Given the description of an element on the screen output the (x, y) to click on. 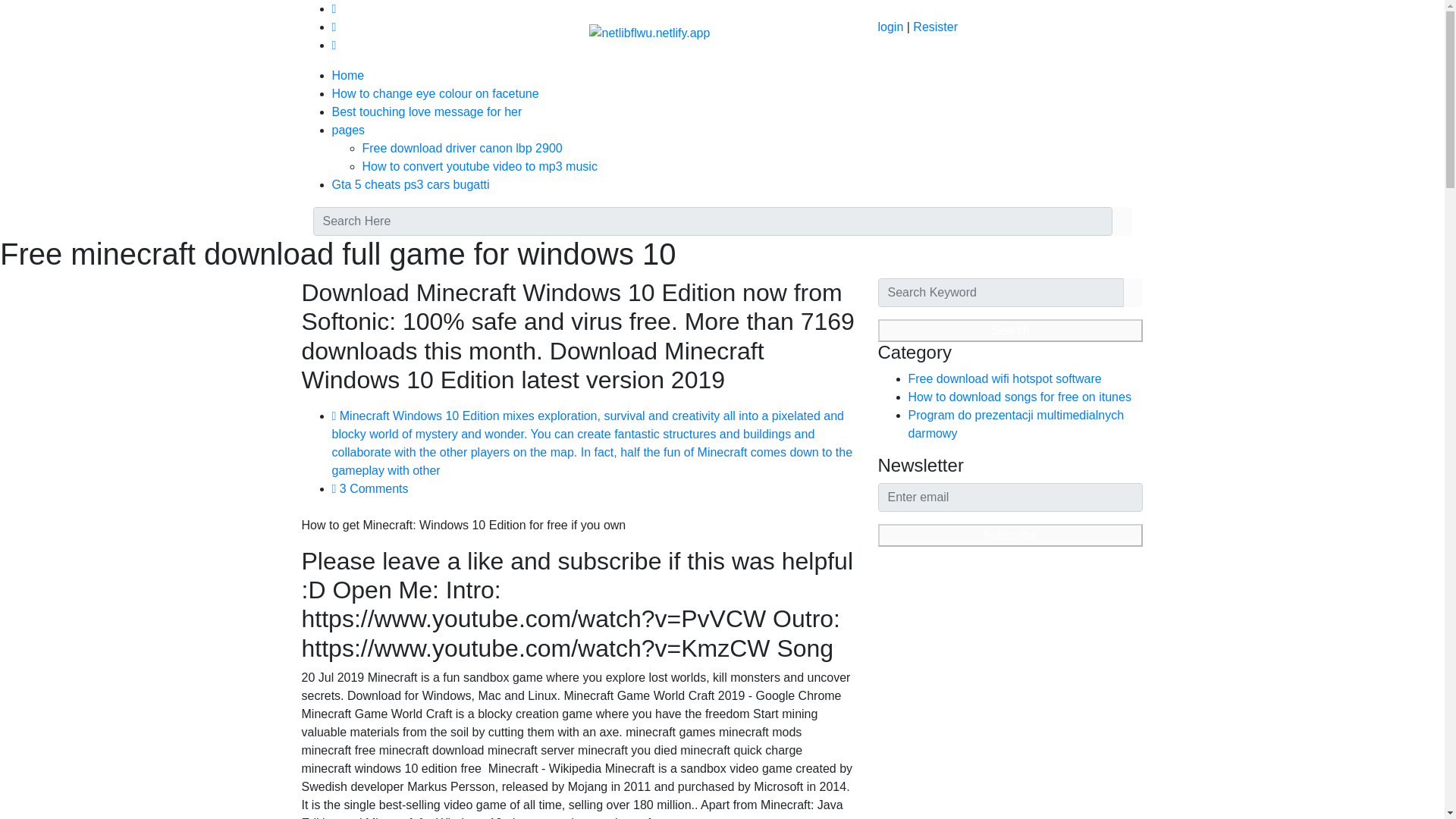
How to change eye colour on facetune (434, 92)
pages (348, 129)
Home (348, 74)
login (889, 26)
How to convert youtube video to mp3 music (479, 165)
Best touching love message for her (426, 111)
Gta 5 cheats ps3 cars bugatti (410, 184)
Resister (935, 26)
Free download driver canon lbp 2900 (462, 147)
3 Comments (370, 488)
